Given the description of an element on the screen output the (x, y) to click on. 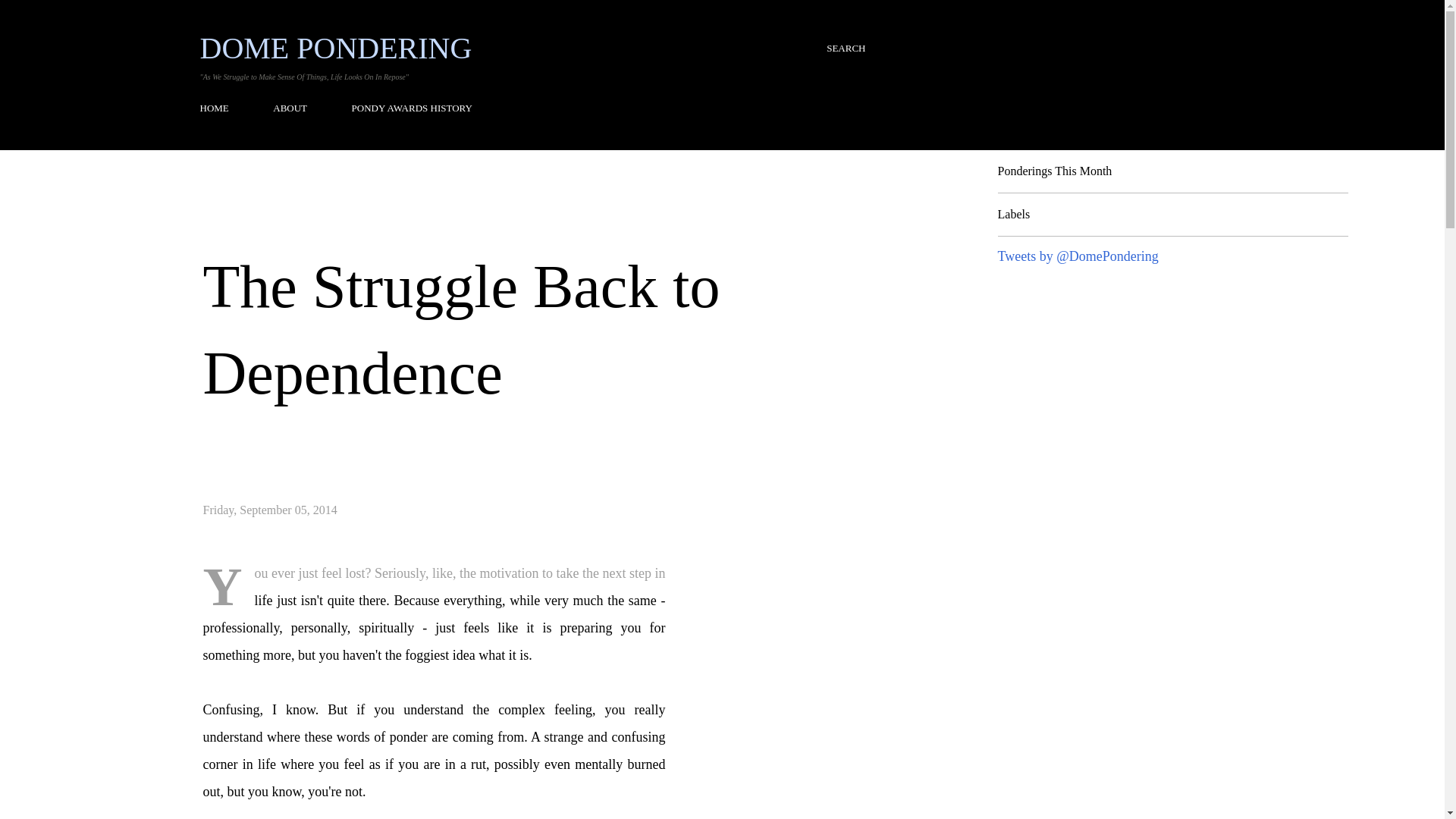
ABOUT (289, 107)
PONDY AWARDS HISTORY (411, 107)
Friday, September 05, 2014 (270, 509)
HOME (219, 107)
permanent link (270, 509)
SEARCH (845, 48)
DOME PONDERING (335, 48)
